Given the description of an element on the screen output the (x, y) to click on. 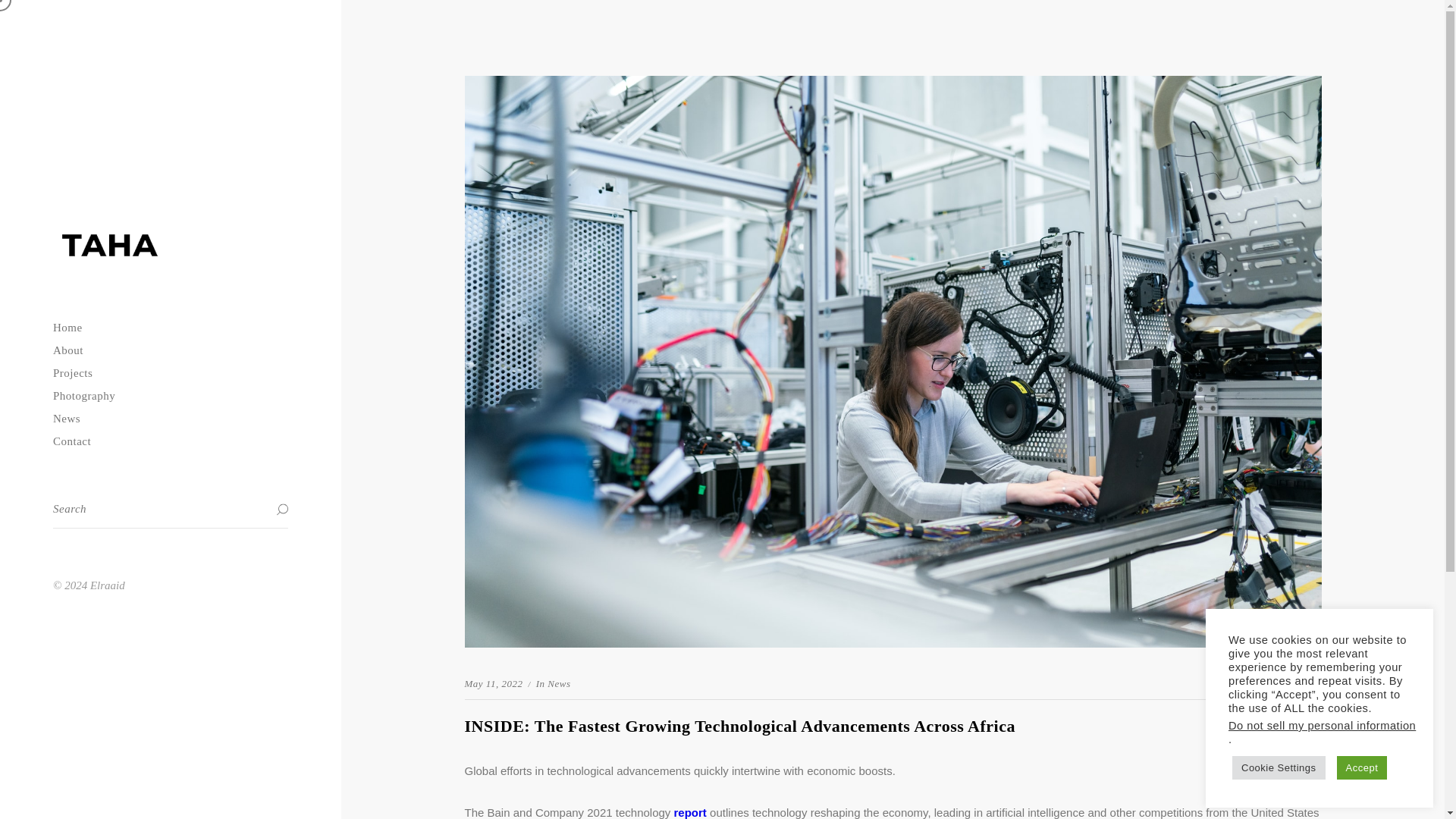
Accept (1361, 767)
Projects (170, 372)
Contact (170, 440)
Like this (1311, 683)
report (688, 812)
News (555, 683)
Home (170, 327)
Do not sell my personal information (1321, 725)
About (170, 350)
News (170, 418)
Cookie Settings (1277, 767)
0 (1309, 683)
Photography (170, 395)
